Given the description of an element on the screen output the (x, y) to click on. 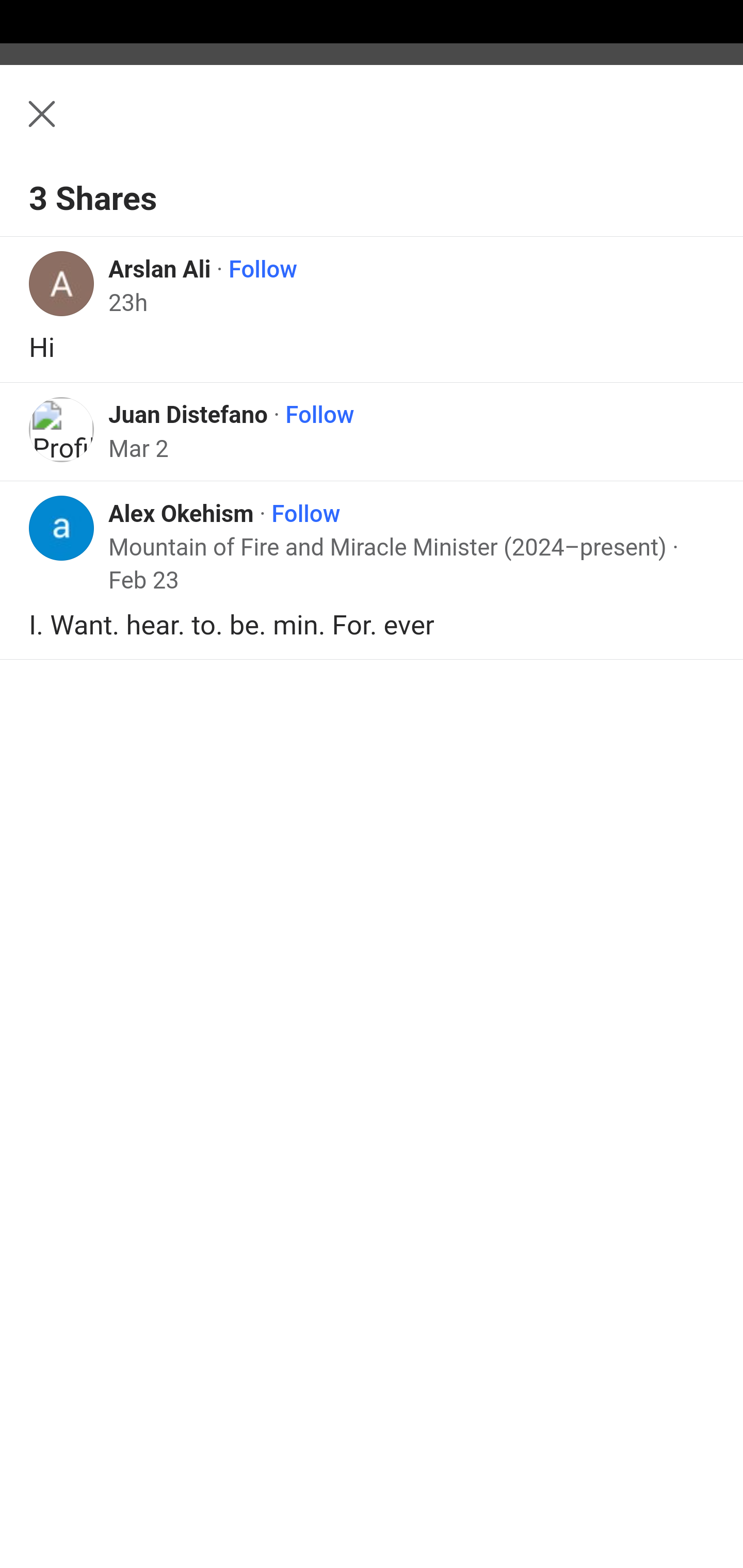
Back (371, 125)
Back (30, 125)
